Given the description of an element on the screen output the (x, y) to click on. 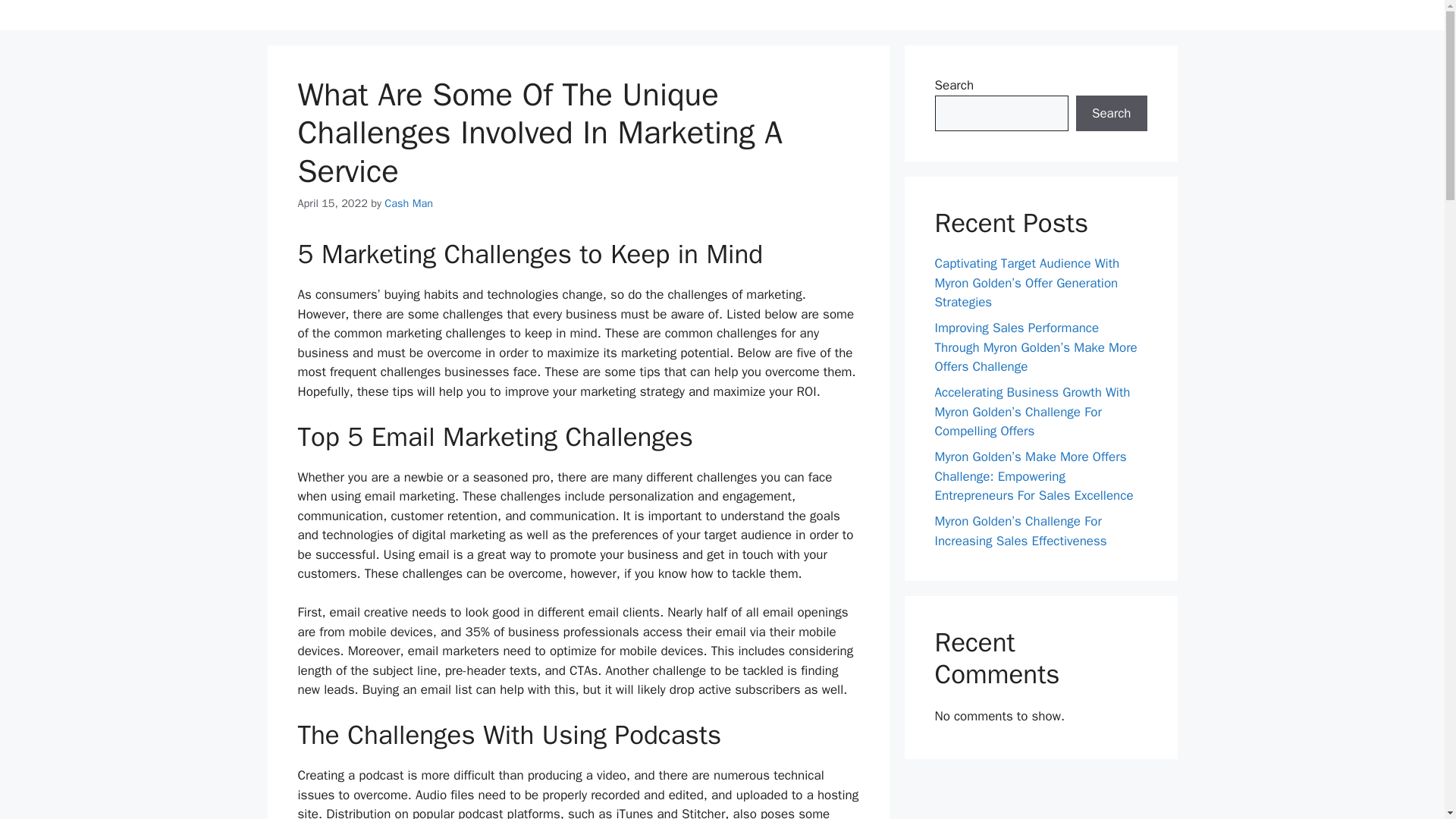
Search (1111, 113)
View all posts by Cash Man (408, 202)
Cash Man (408, 202)
